Given the description of an element on the screen output the (x, y) to click on. 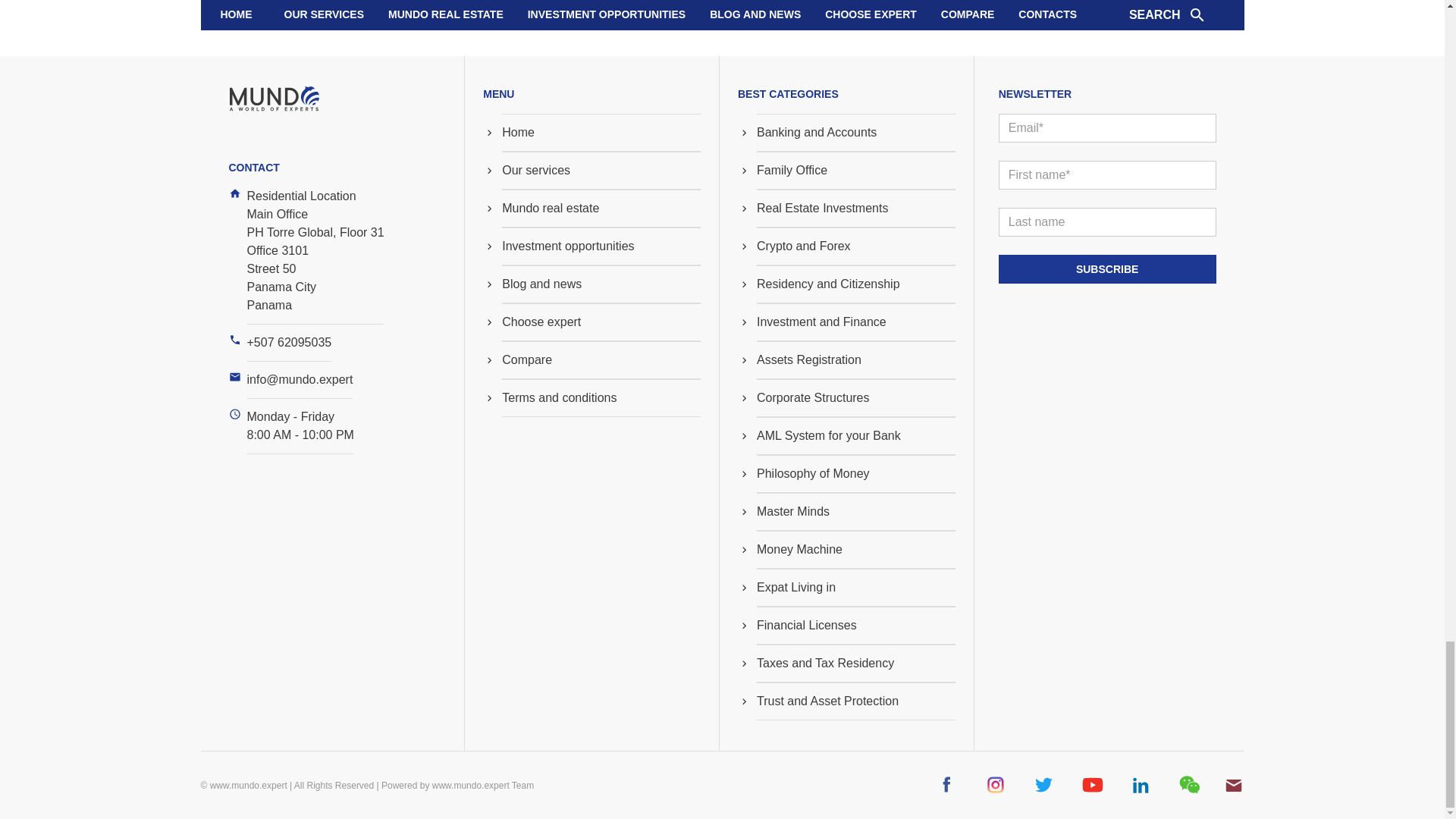
Subscribe (1106, 268)
